Given the description of an element on the screen output the (x, y) to click on. 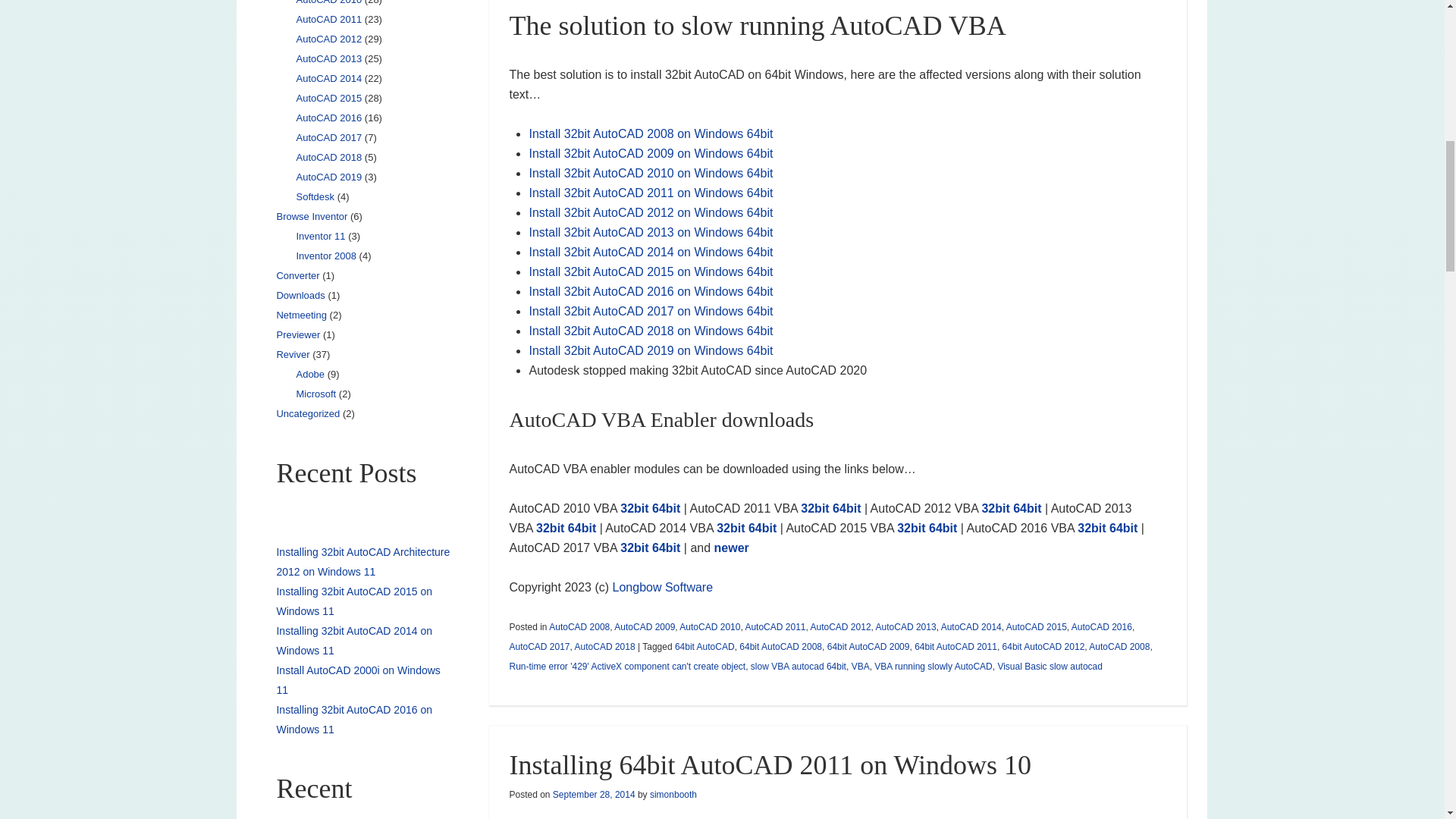
Install 32bit AutoCAD 2017 on Windows 64bit (650, 310)
Install 32bit AutoCAD 2015 on Windows 64bit (650, 271)
Install 32bit AutoCAD 2008 on Windows 64bit (650, 133)
64bit (762, 527)
Install 32bit AutoCAD 2010 on Windows 64bit (650, 173)
3:40 am (593, 794)
64bit (665, 547)
Longbow Software (662, 586)
32bit (633, 508)
Install 32bit AutoCAD 2018 on Windows 64bit (650, 330)
32bit (1091, 527)
32bit (910, 527)
64bit (1027, 508)
Install 32bit AutoCAD 2014 on Windows 64bit (650, 251)
32bit (814, 508)
